Given the description of an element on the screen output the (x, y) to click on. 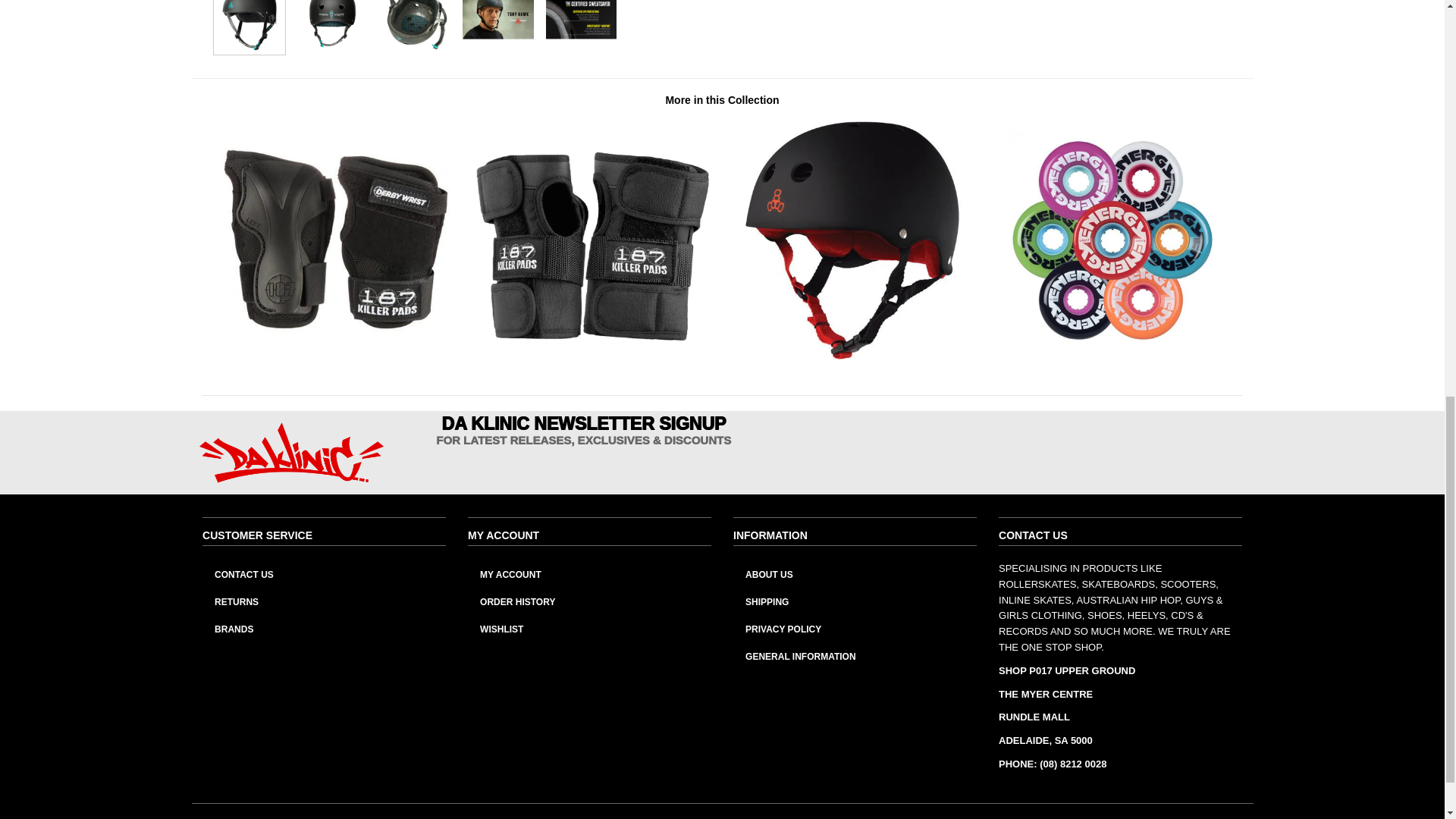
Triple 8 Skate Helmet SS Black Rubber w Red Liner (852, 355)
187 Wrist Guard Black (592, 355)
187 Derby Wrist Guards (331, 355)
